Given the description of an element on the screen output the (x, y) to click on. 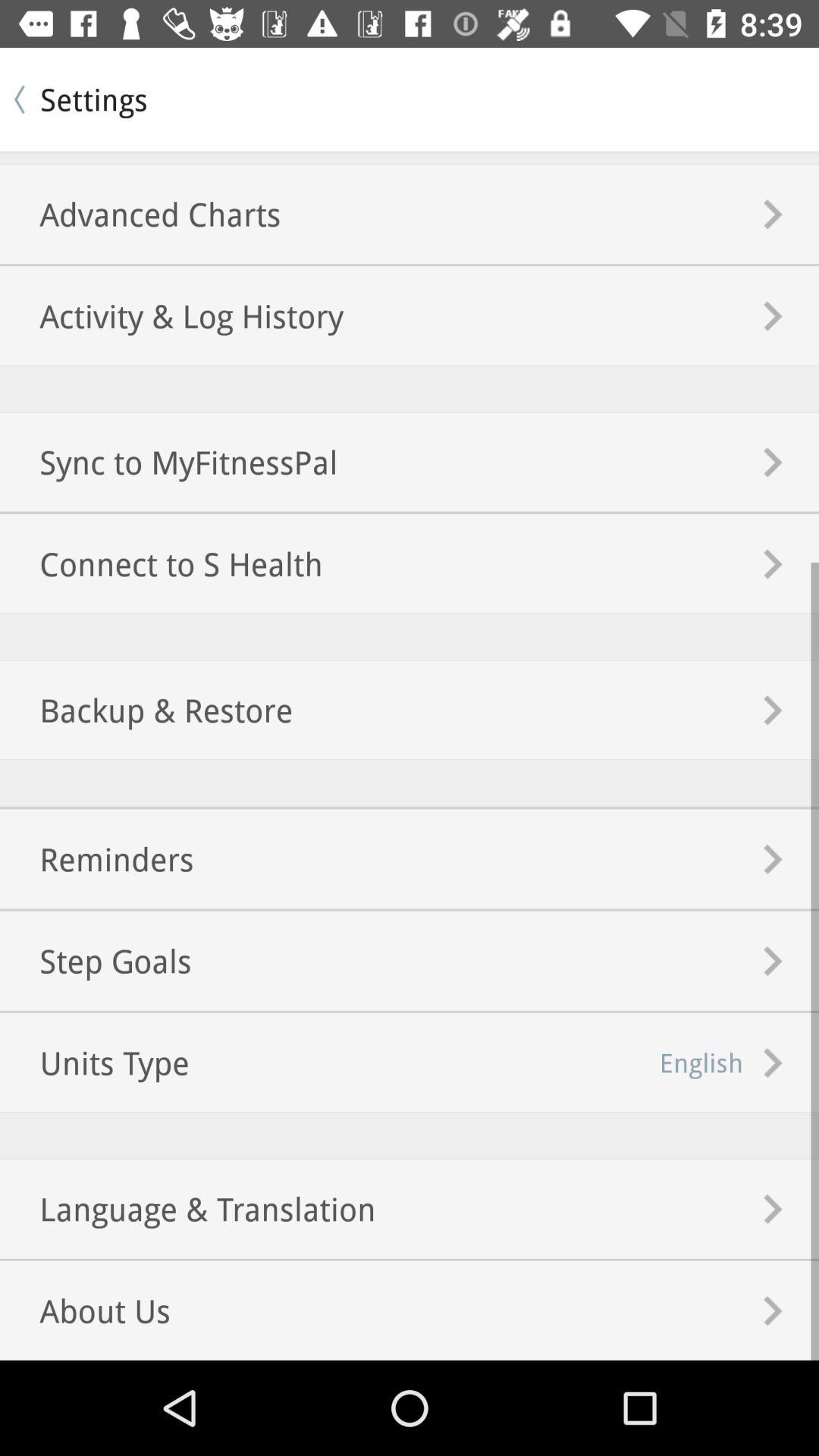
turn on item below language & translation (85, 1310)
